Given the description of an element on the screen output the (x, y) to click on. 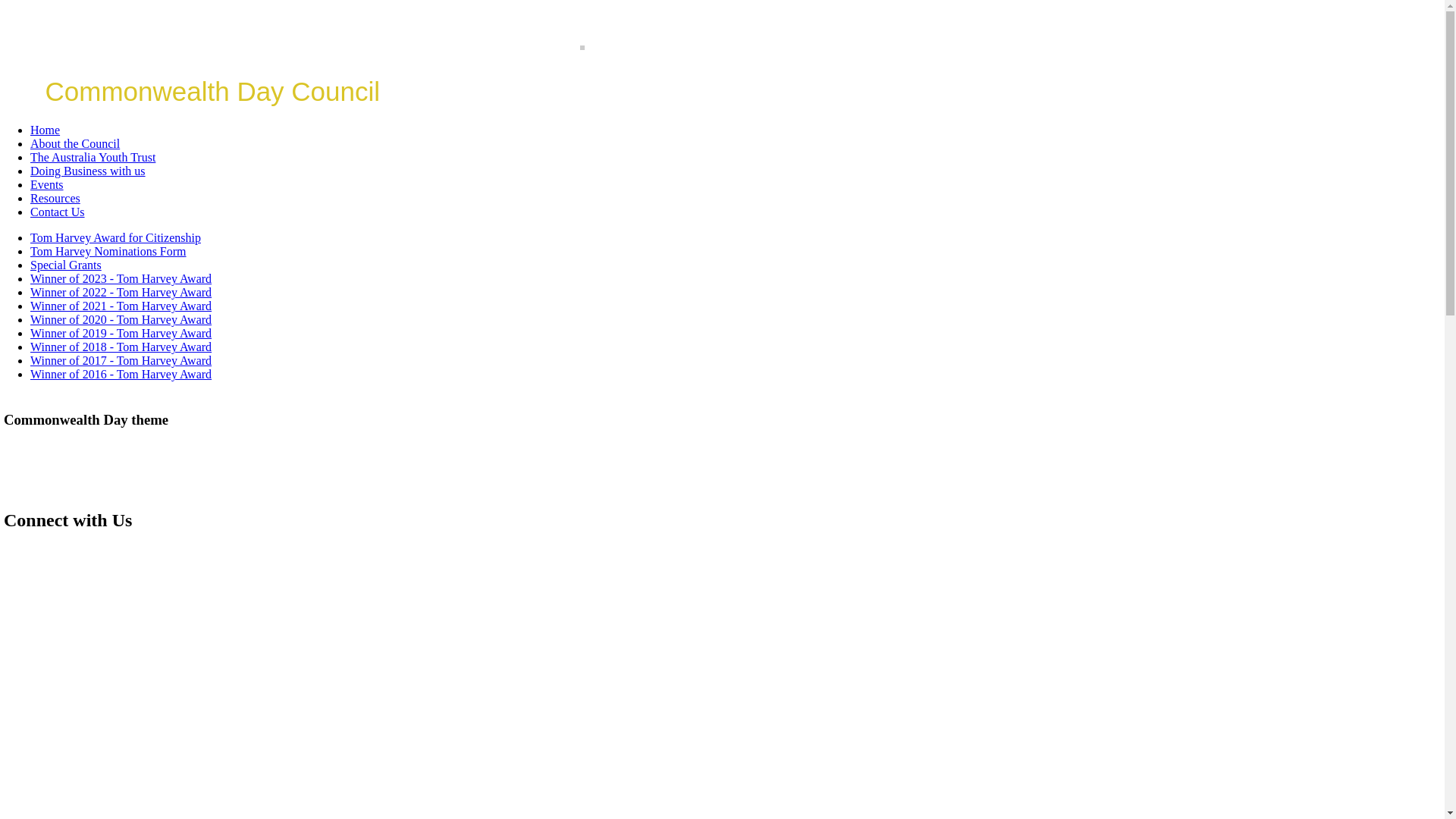
The Australia Youth Trust Element type: text (92, 156)
Winner of 2023 - Tom Harvey Award Element type: text (120, 278)
Winner of 2016 - Tom Harvey Award Element type: text (120, 373)
Home Element type: text (44, 129)
Winner of 2019 - Tom Harvey Award Element type: text (120, 332)
Resources Element type: text (55, 197)
Winner of 2020 - Tom Harvey Award Element type: text (120, 319)
Winner of 2022 - Tom Harvey Award Element type: text (120, 291)
Contact Us Element type: text (57, 211)
Tom Harvey Nominations Form Element type: text (108, 250)
Winner of 2018 - Tom Harvey Award Element type: text (120, 346)
About the Council Element type: text (74, 143)
Winner of 2021 - Tom Harvey Award Element type: text (120, 305)
Winner of 2017 - Tom Harvey Award Element type: text (120, 360)
Special Grants Element type: text (65, 264)
Tom Harvey Award for Citizenship Element type: text (115, 237)
Doing Business with us Element type: text (87, 170)
Events Element type: text (46, 184)
